Given the description of an element on the screen output the (x, y) to click on. 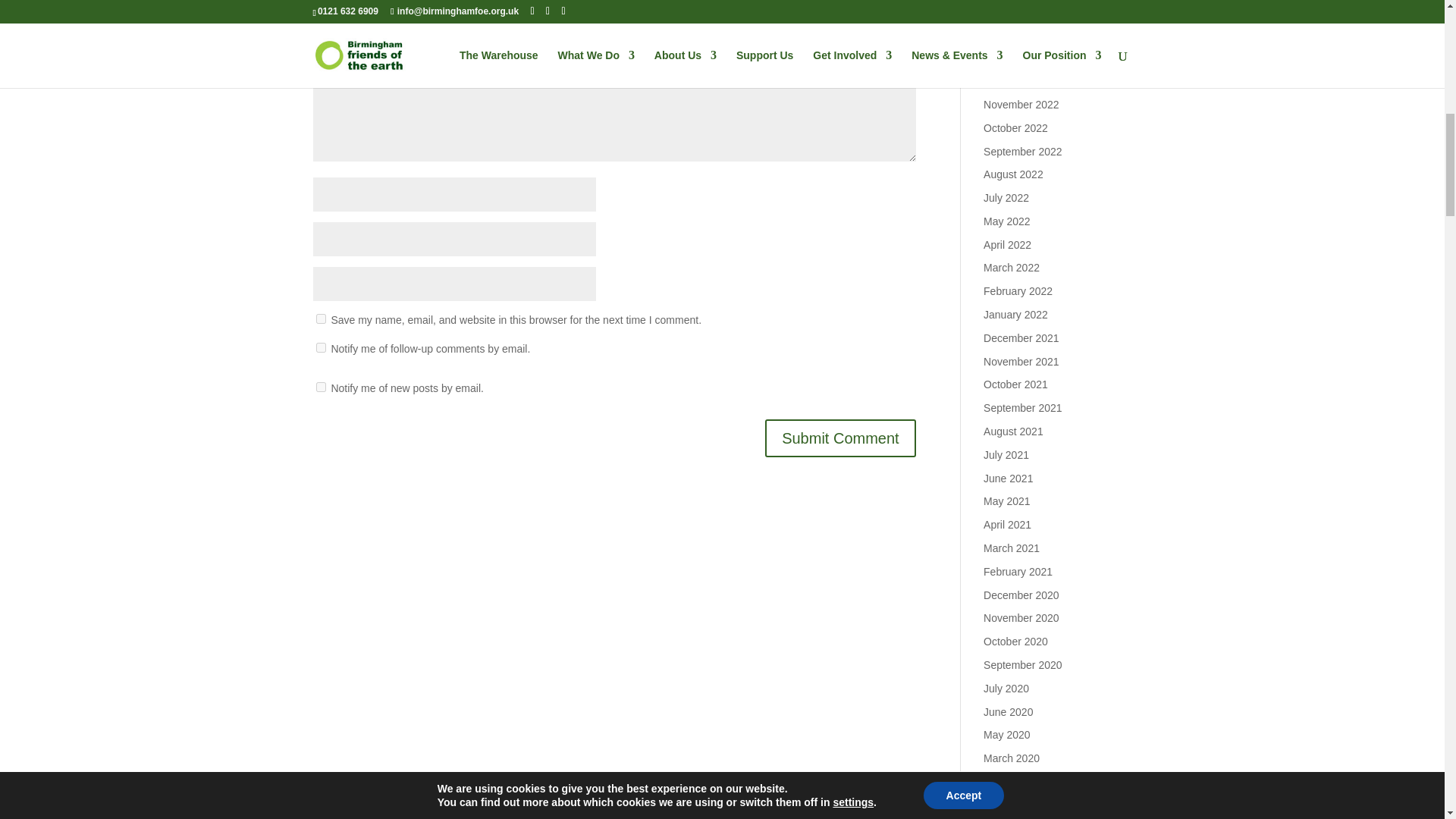
subscribe (319, 387)
yes (319, 318)
Submit Comment (840, 438)
subscribe (319, 347)
